Given the description of an element on the screen output the (x, y) to click on. 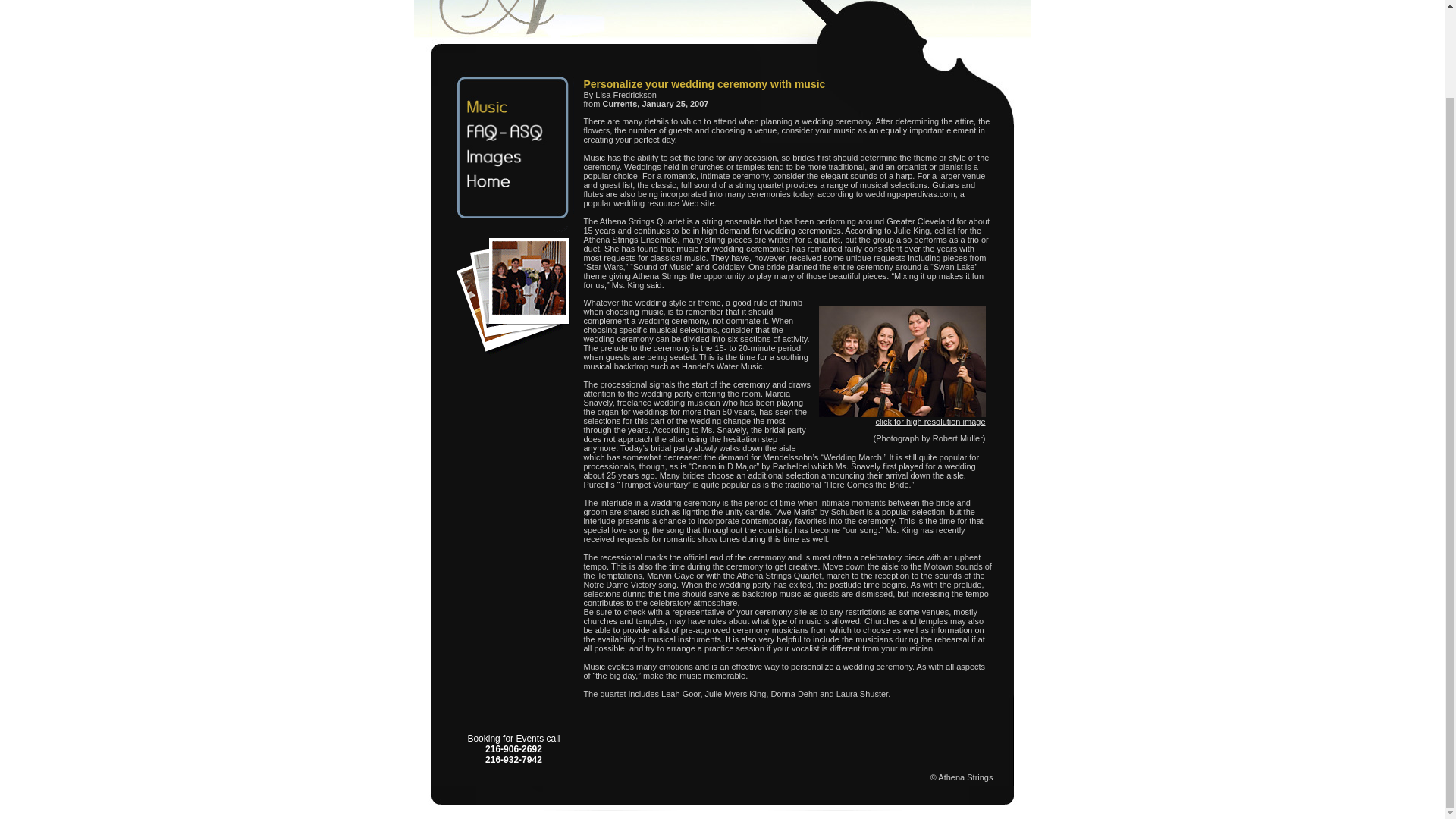
click for high resolution image (930, 420)
